Given the description of an element on the screen output the (x, y) to click on. 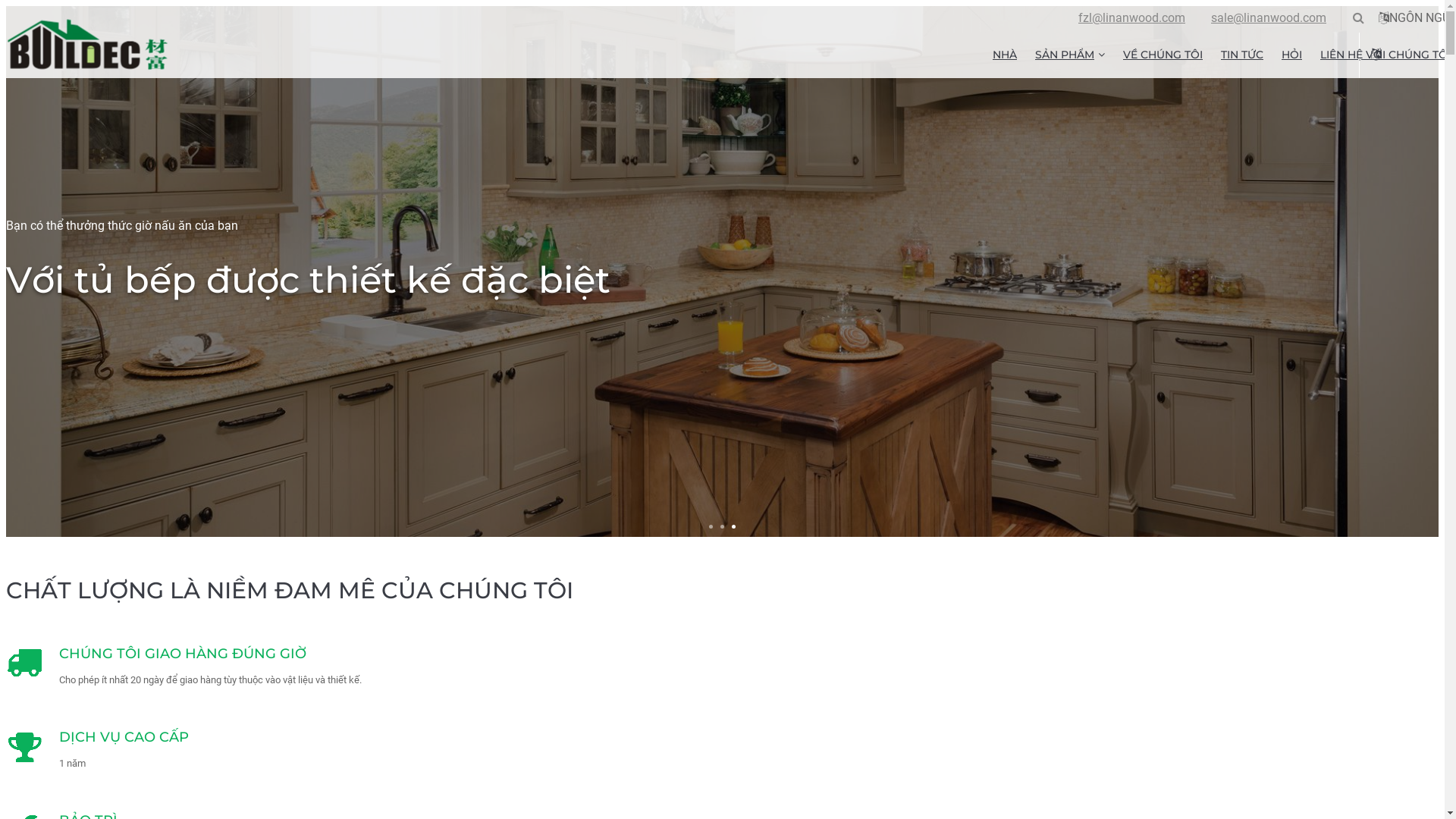
fzl@linanwood.com Element type: text (1131, 18)
sale@linanwood.com Element type: text (1268, 18)
